Given the description of an element on the screen output the (x, y) to click on. 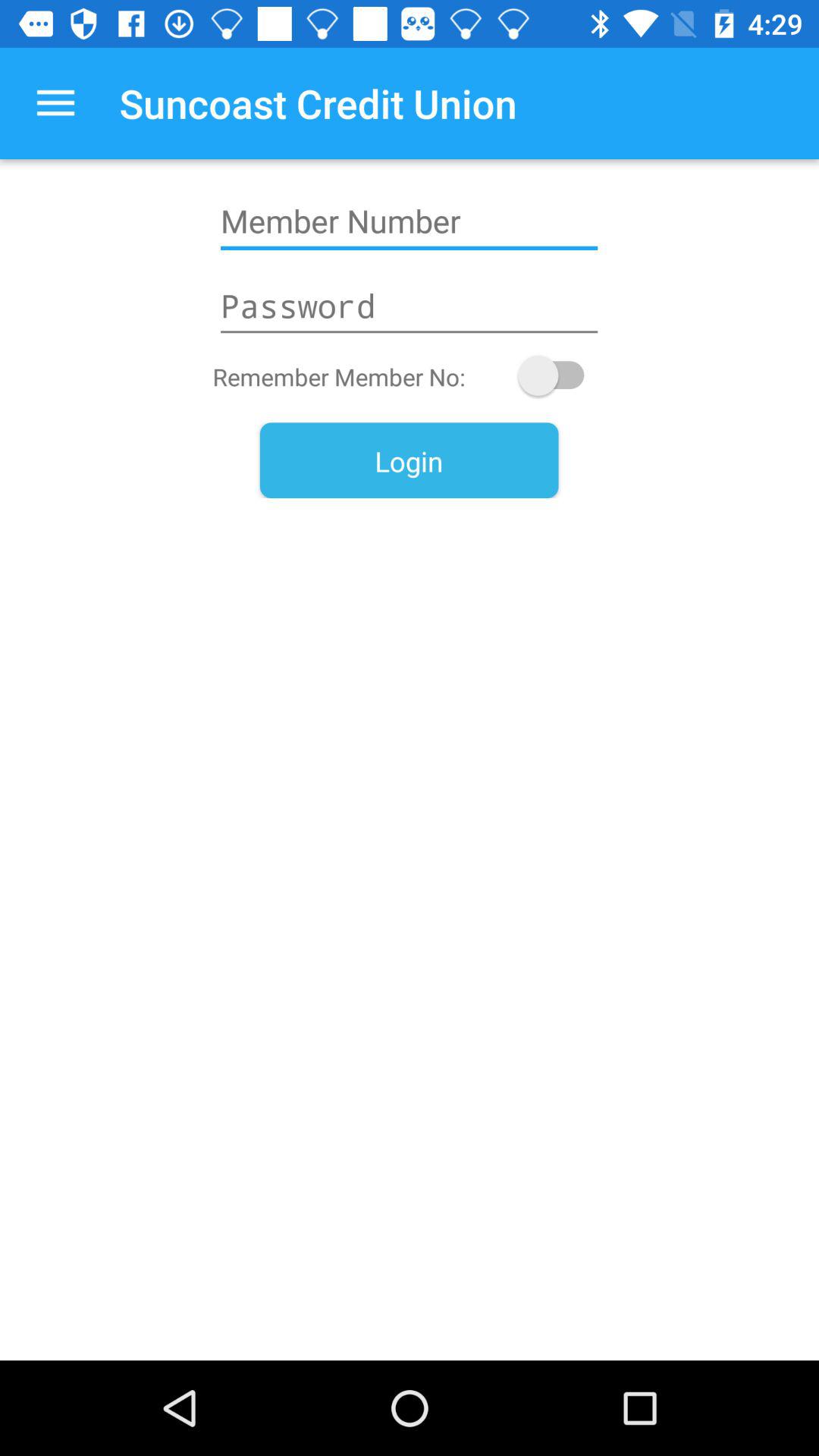
press item to the right of the remember member no: (558, 375)
